Given the description of an element on the screen output the (x, y) to click on. 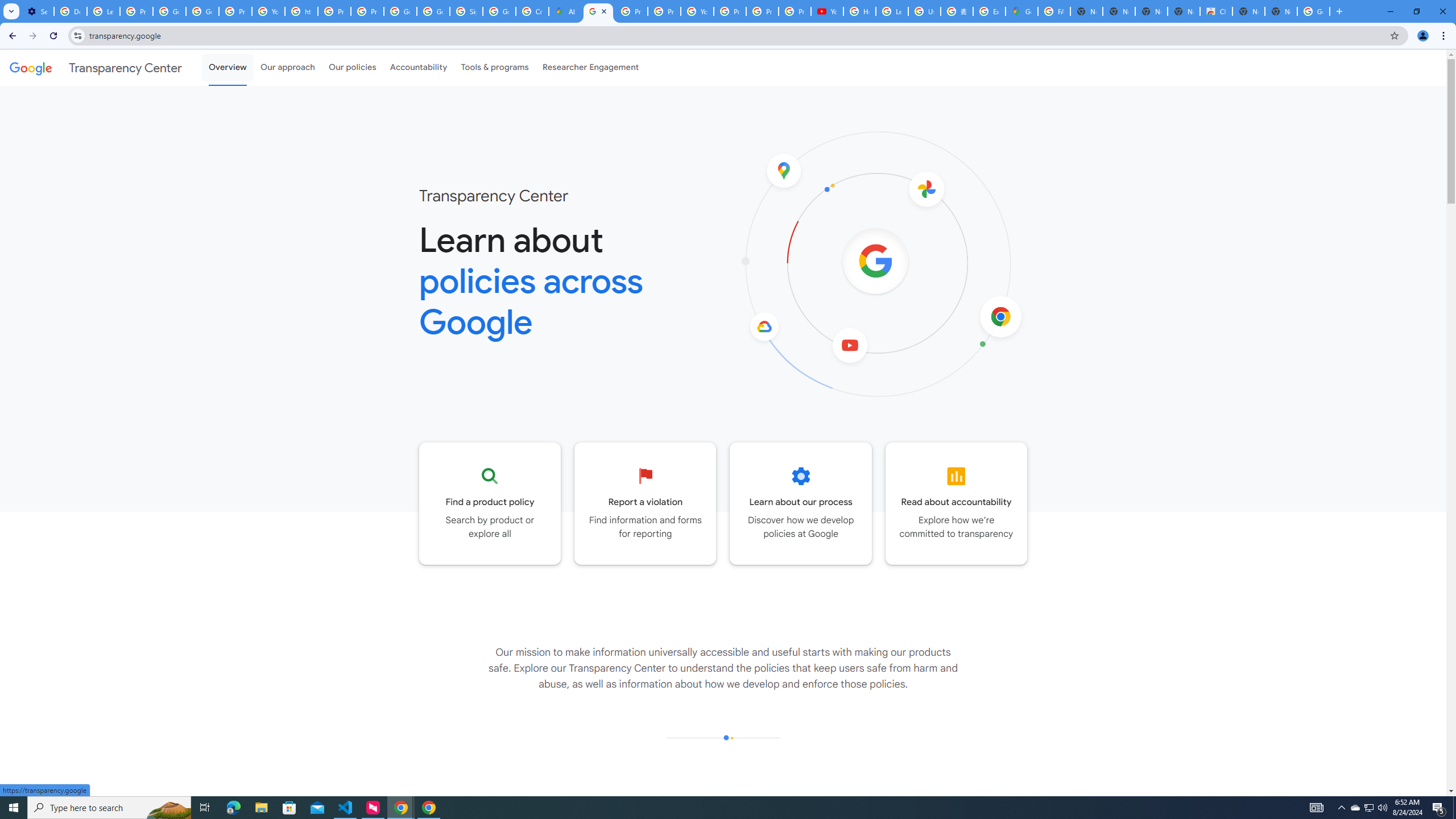
Accountability (418, 67)
Go to the Accountability page (956, 503)
Transparency Center (95, 67)
Tools & programs (494, 67)
